Given the description of an element on the screen output the (x, y) to click on. 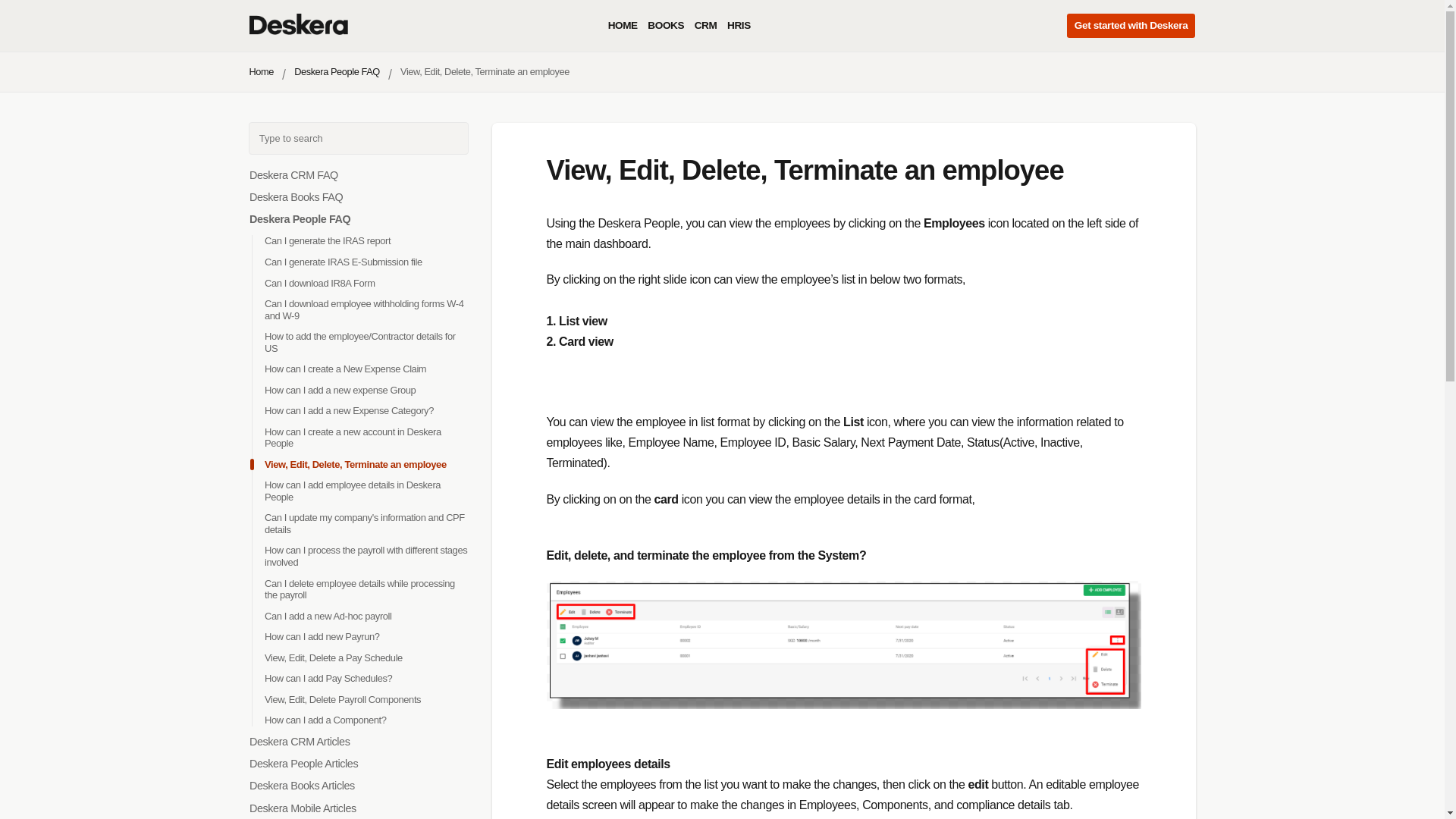
BOOKS (666, 25)
Deskera CRM FAQ (292, 174)
Home (260, 71)
HRIS (739, 25)
CRM (705, 25)
Deskera People FAQ (337, 71)
Get started with Deskera (1131, 25)
HOME (622, 25)
